Given the description of an element on the screen output the (x, y) to click on. 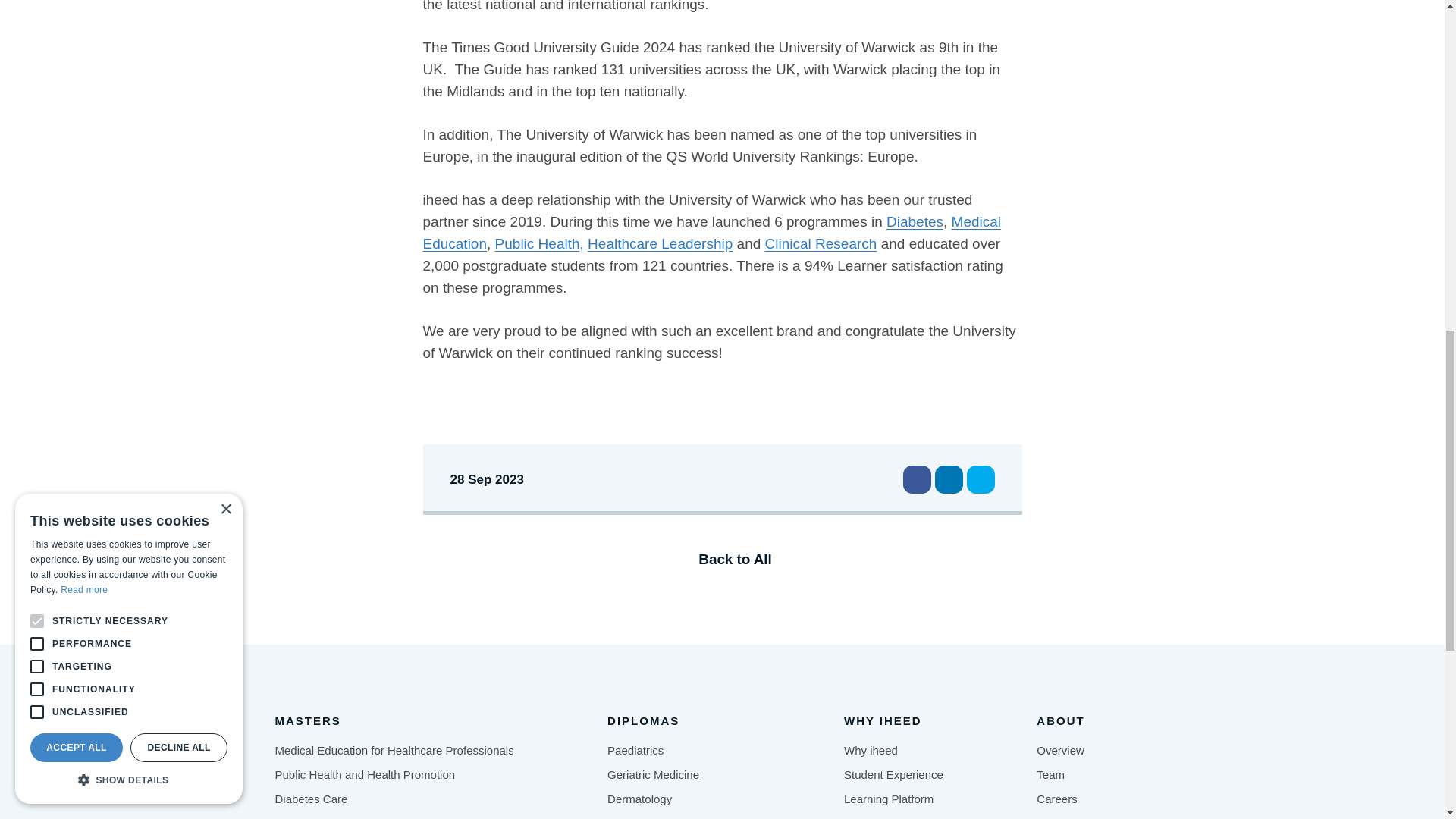
Medical Education (712, 232)
Diabetes Care (311, 798)
Healthcare Leadership (660, 243)
Back to All (721, 559)
Healthcare Leadership (331, 817)
Share on Twitter (980, 479)
Public Health (537, 243)
Share on Facebook (916, 479)
Medical Education for Healthcare Professionals (394, 750)
Dermatology (639, 798)
Obstetrics and Gynaecology (678, 817)
Paediatrics (635, 750)
Geriatric Medicine (652, 775)
Diabetes (914, 221)
Clinical Research (821, 243)
